Given the description of an element on the screen output the (x, y) to click on. 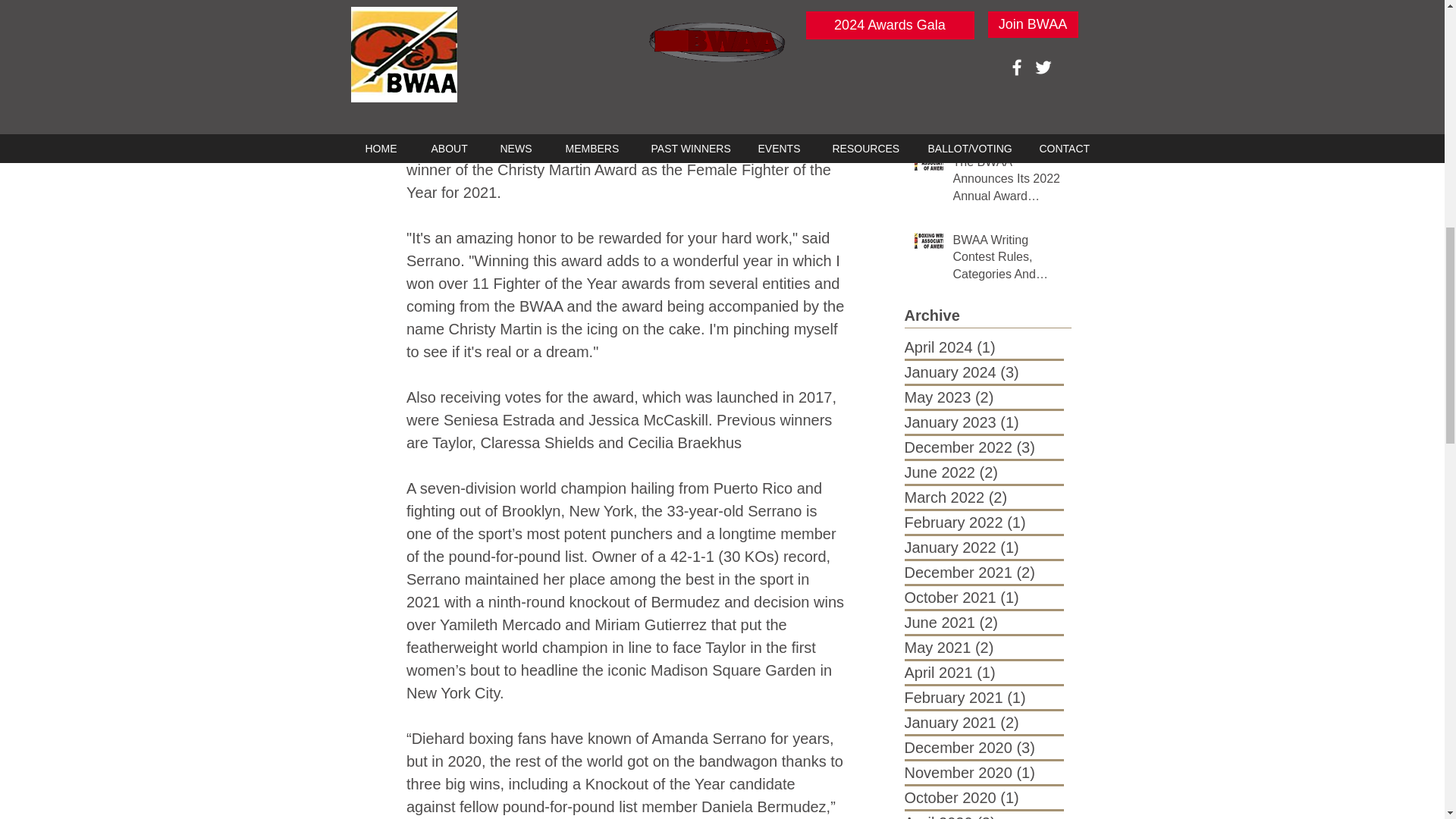
The BWAA Announces Its 2022 Annual Award Nominees (1006, 181)
The BWAA Announces Its 2022 Annual Award Winners (1006, 19)
BWAA Writing Contest Rules, Categories And Deadline (1006, 260)
Claressa Shields Is The BWAA 2022 Female Fighter Of The Year (1006, 91)
